Given the description of an element on the screen output the (x, y) to click on. 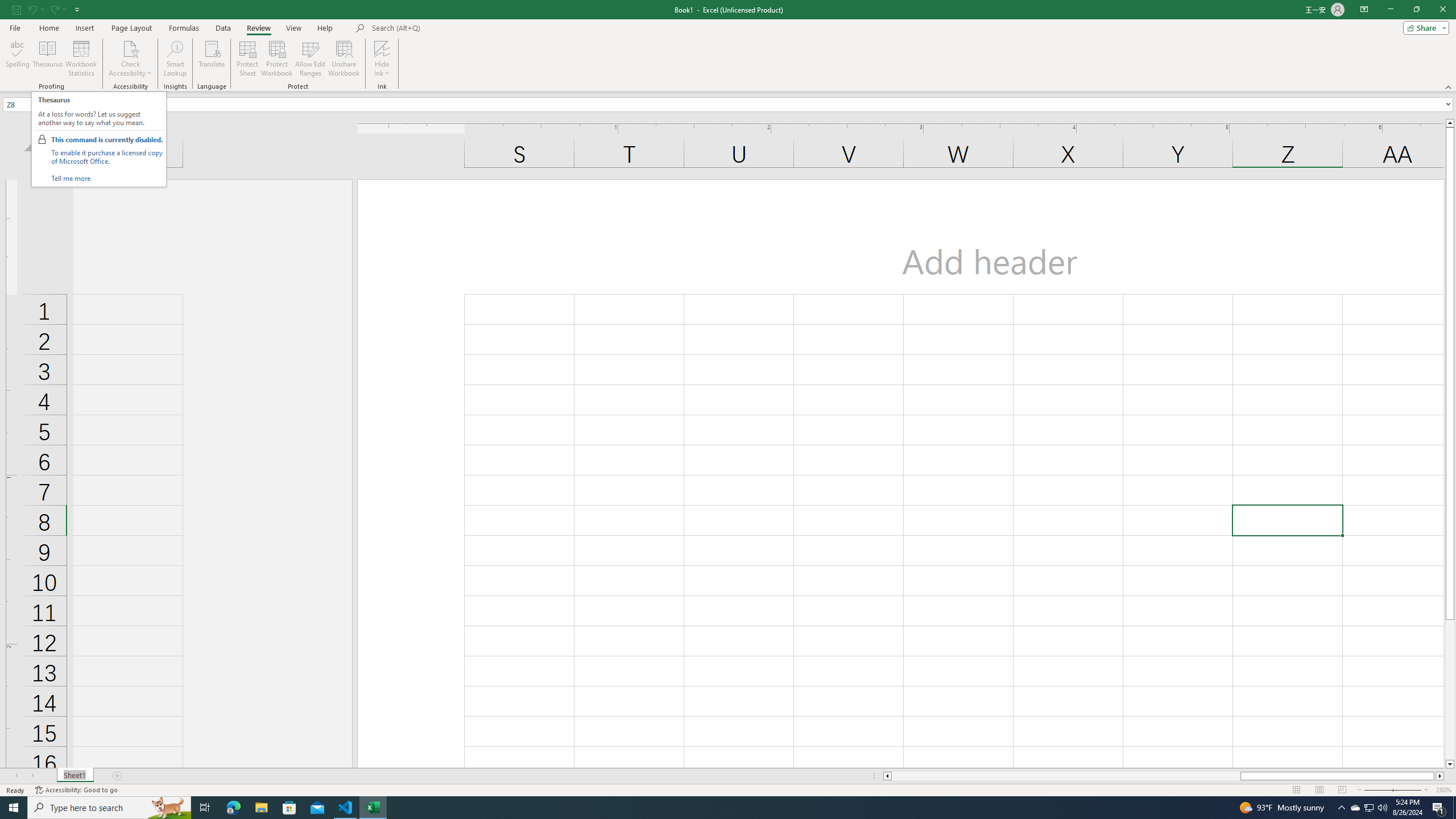
Unshare Workbook (344, 58)
